Given the description of an element on the screen output the (x, y) to click on. 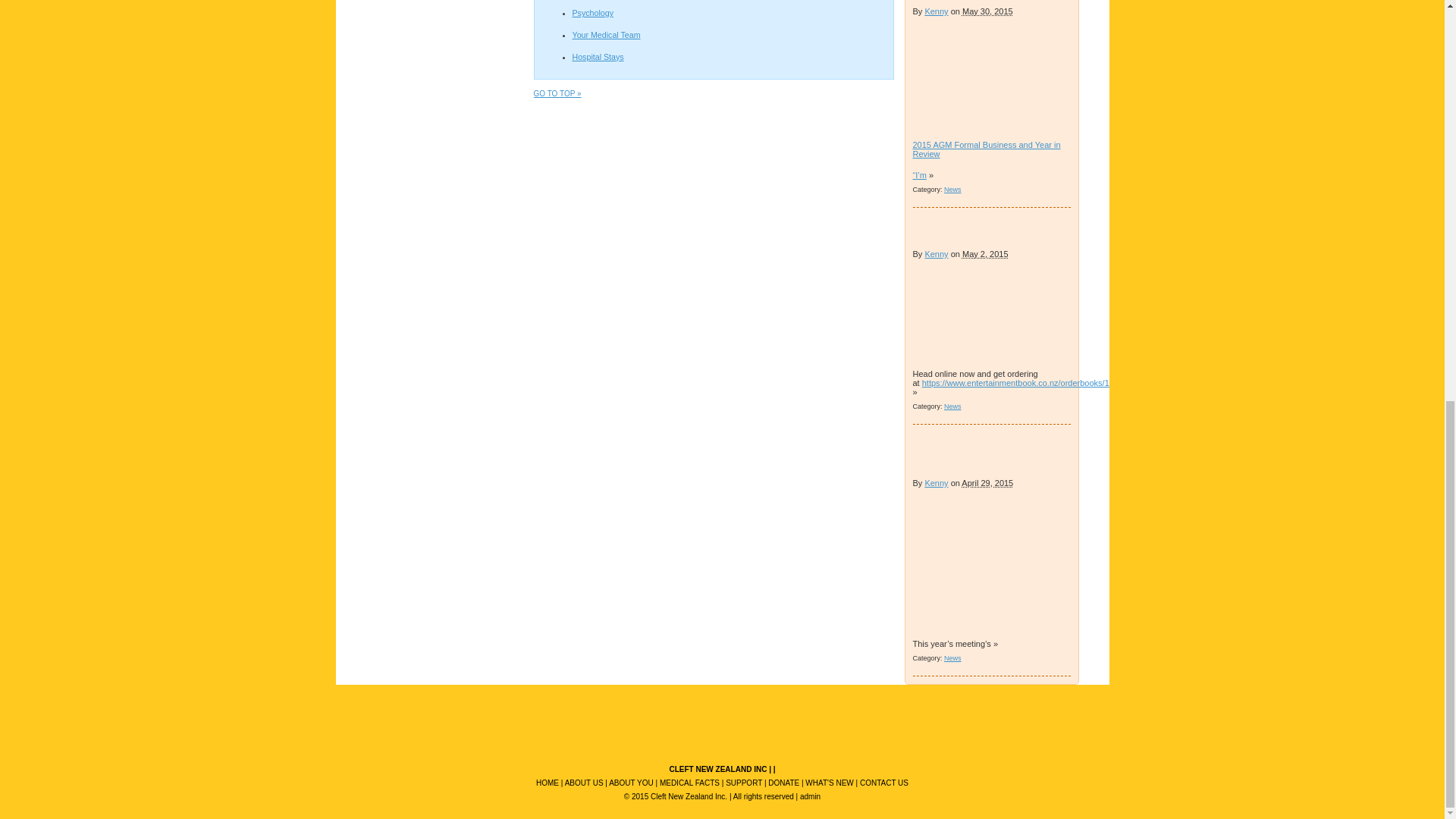
Kenny (935, 482)
Kenny (935, 10)
Saturday, May 2nd, 2015, 11:36 am (985, 253)
Kenny (935, 253)
Wednesday, April 29th, 2015, 8:01 pm (986, 482)
Saturday, May 30th, 2015, 9:06 pm (987, 10)
